Given the description of an element on the screen output the (x, y) to click on. 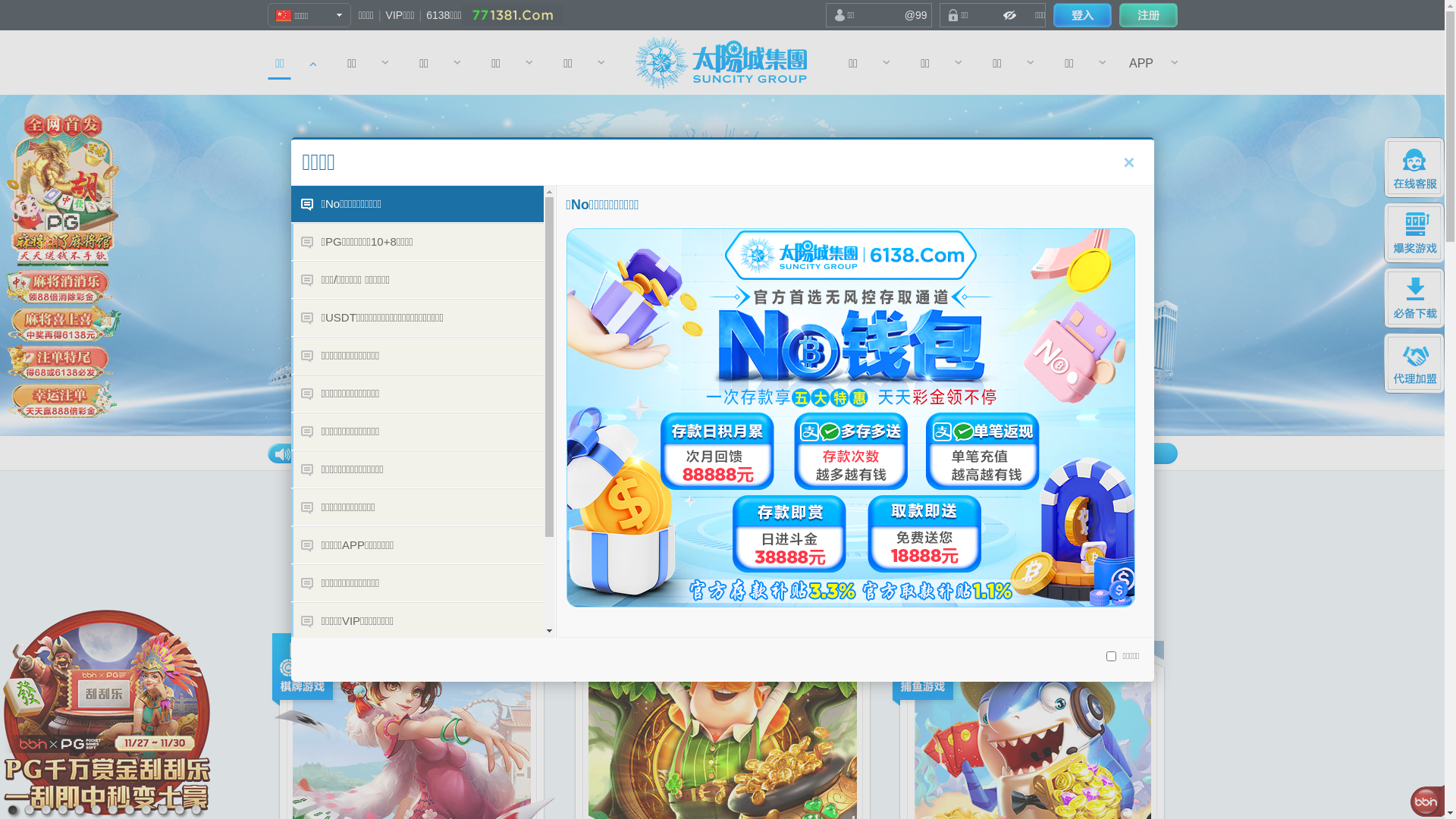
APP Element type: text (1141, 62)
  Element type: hover (1081, 15)
  Element type: text (1081, 15)
